Given the description of an element on the screen output the (x, y) to click on. 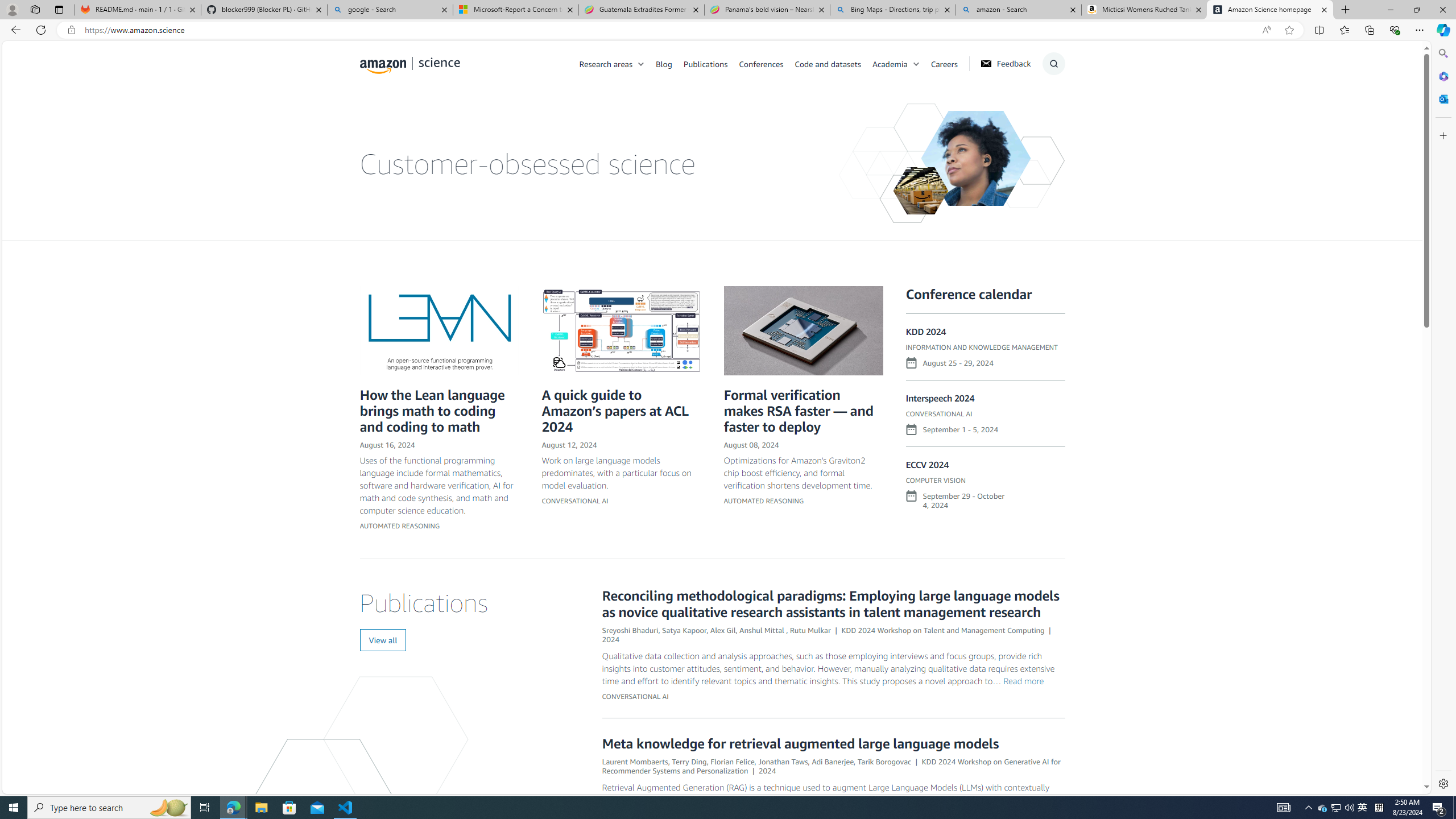
INFORMATION AND KNOWLEDGE MANAGEMENT (981, 347)
Amazon Science homepage.jpeg (975, 157)
ECCV 2024 (927, 464)
Rutu Mulkar (810, 629)
CONVERSATIONAL AI (634, 696)
Conference calendar (968, 293)
Graviton chip.png (803, 330)
Alex Gil (722, 629)
Academia (889, 63)
Laurent Mombaerts (634, 760)
